Given the description of an element on the screen output the (x, y) to click on. 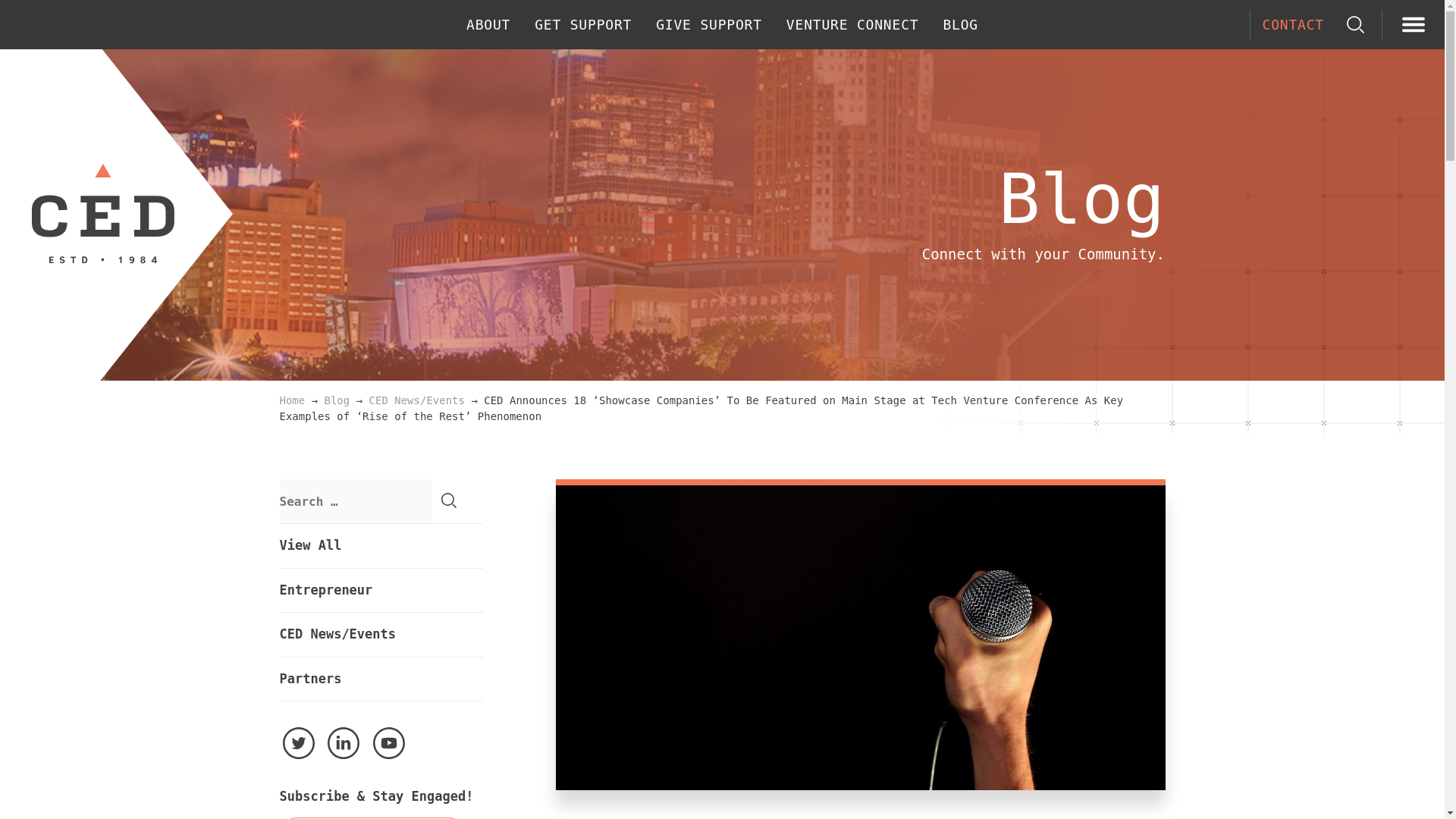
Go to CED - Council for Entrepreneurial Development. (291, 399)
CONTACT (1292, 24)
SEARCH (1355, 24)
Search (448, 500)
GIVE SUPPORT (708, 24)
ABOUT (488, 24)
Primary Menu (1413, 25)
Home (291, 399)
Go to Blog. (337, 399)
Search (448, 500)
